Given the description of an element on the screen output the (x, y) to click on. 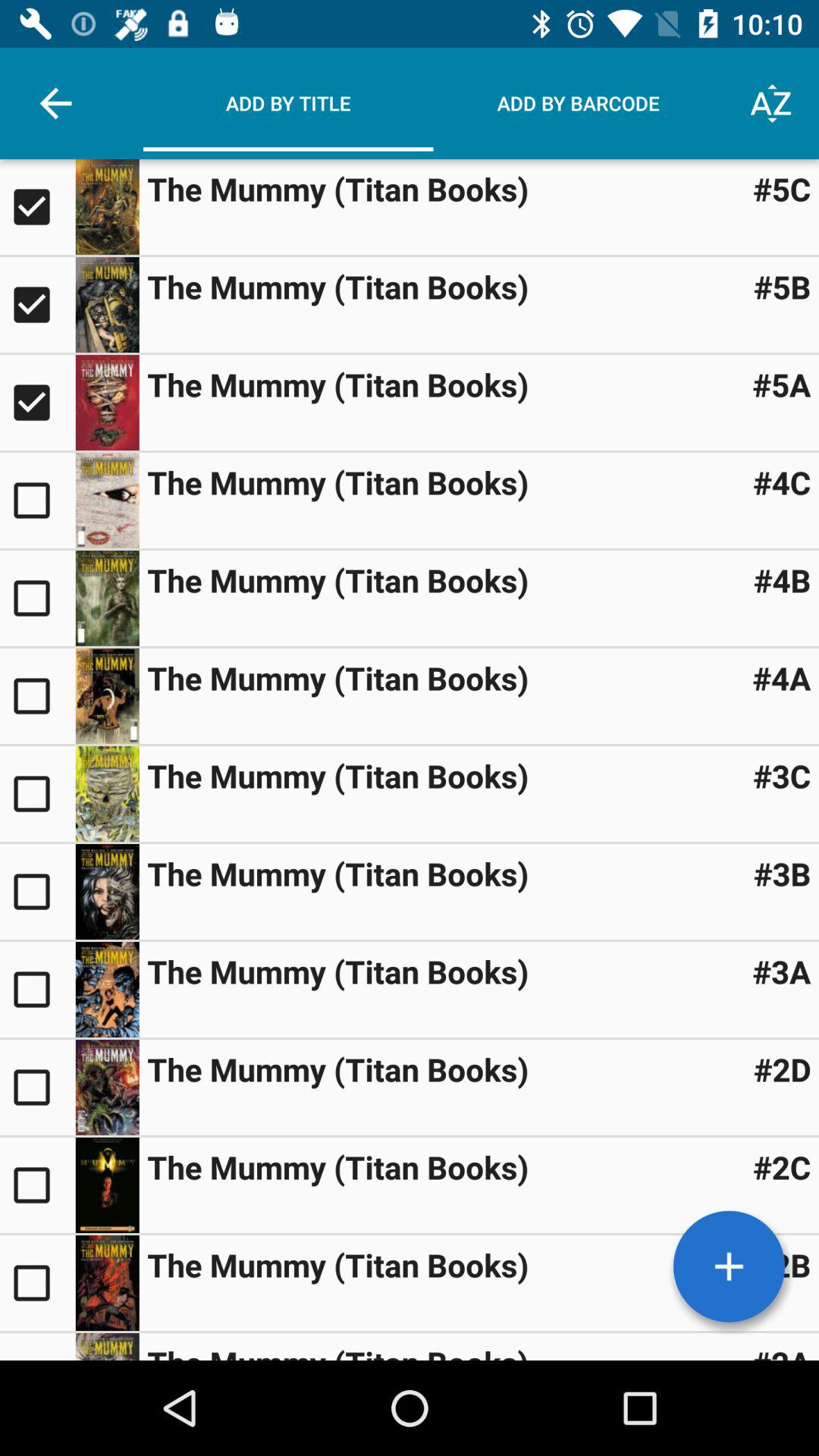
select title (37, 1087)
